Given the description of an element on the screen output the (x, y) to click on. 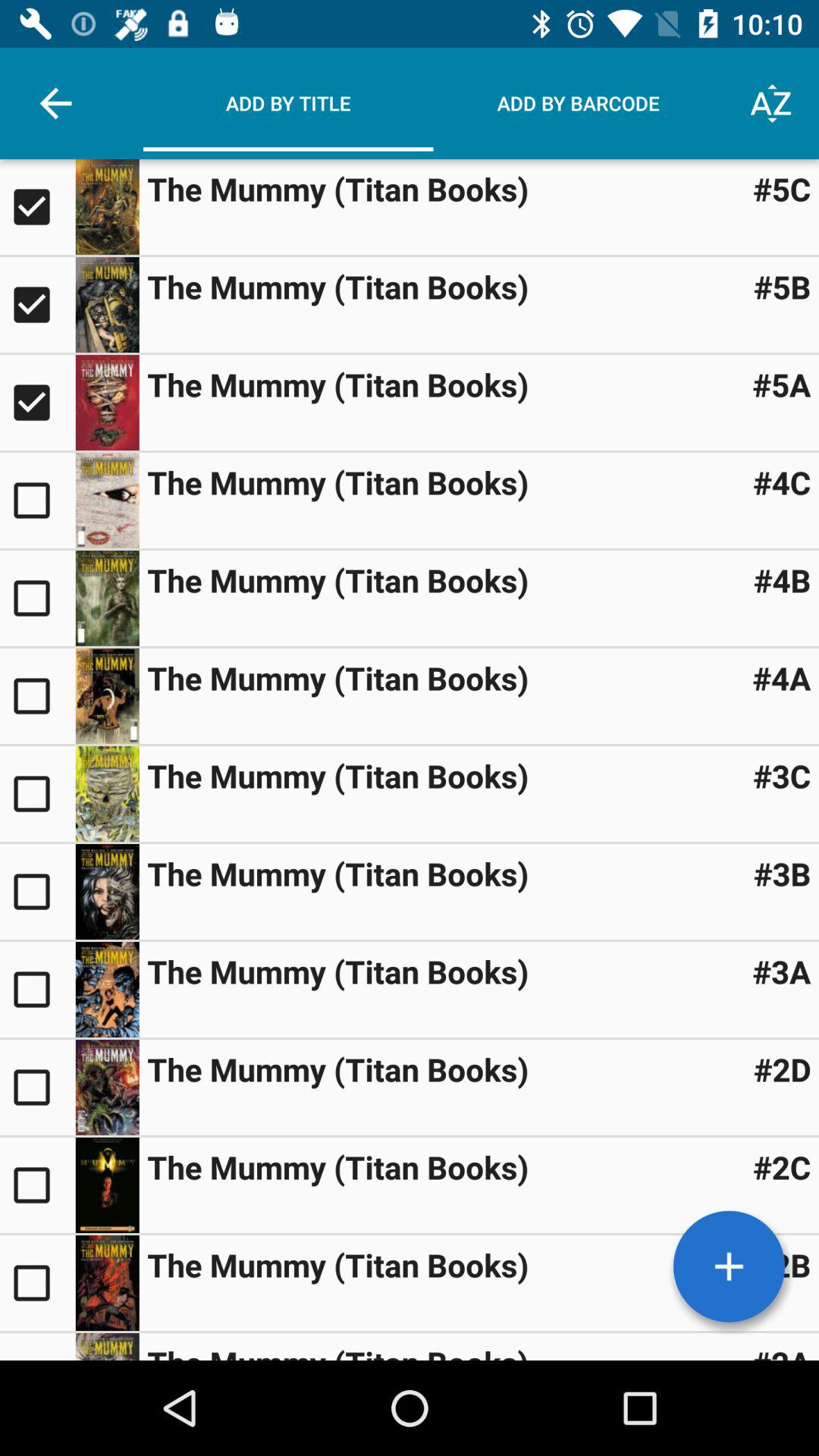
select title (37, 1087)
